Given the description of an element on the screen output the (x, y) to click on. 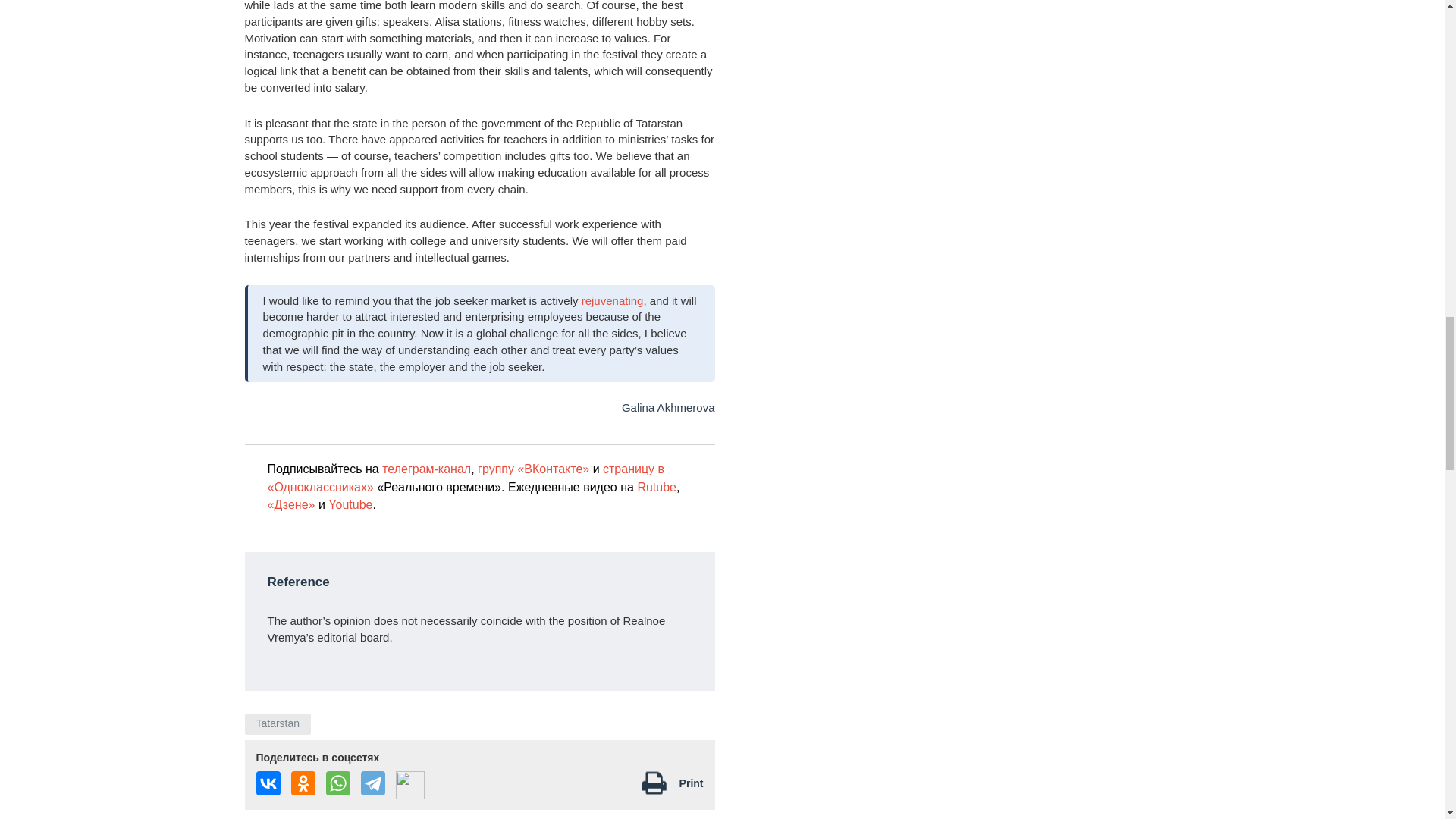
Telegram (373, 783)
Tatarstan (277, 723)
WhatsApp (338, 783)
rejuvenating (611, 300)
Rutube (657, 486)
Youtube (350, 504)
Print (691, 783)
